Given the description of an element on the screen output the (x, y) to click on. 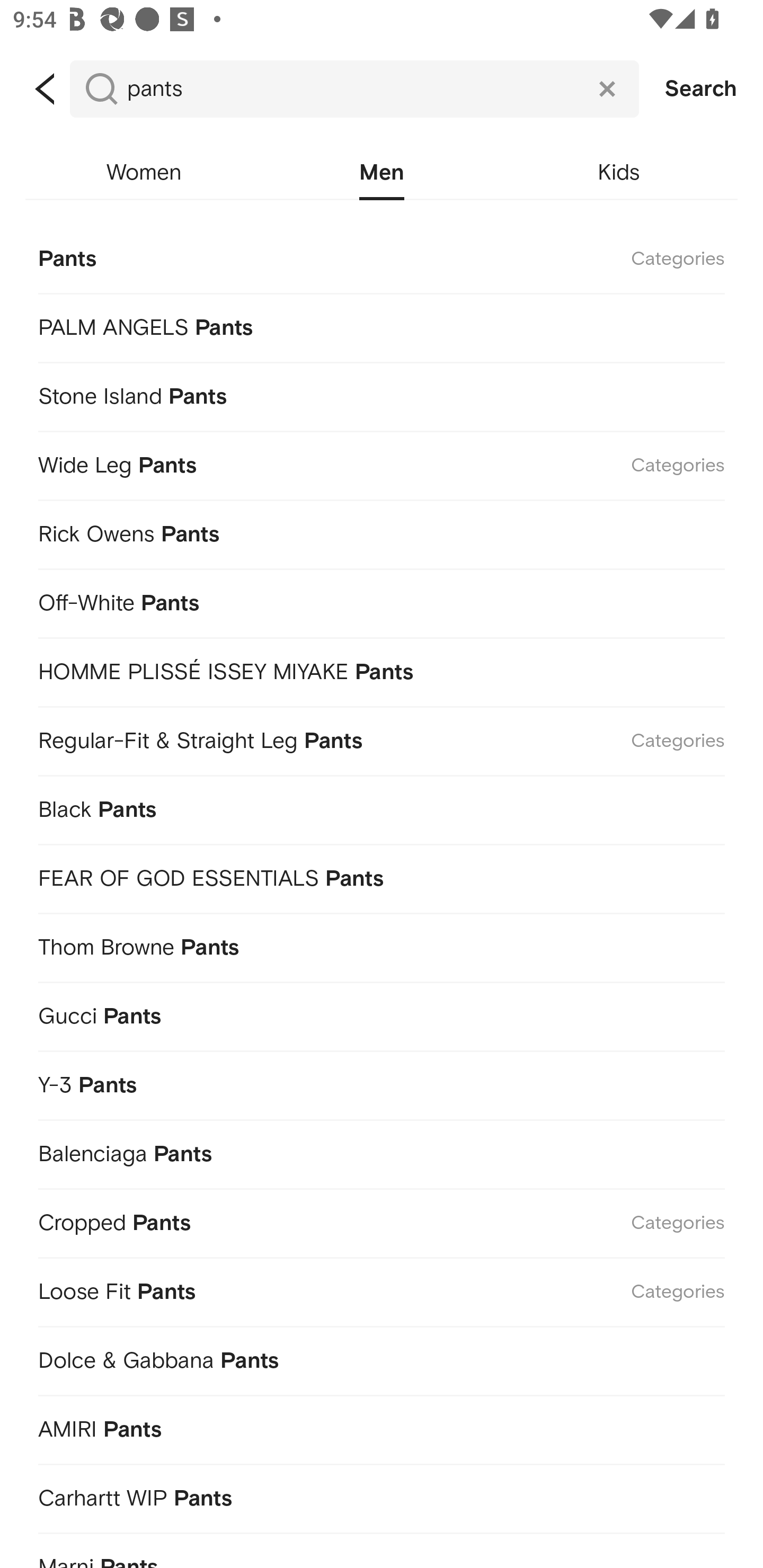
pants (354, 89)
Search (701, 89)
Women (143, 172)
Kids (618, 172)
Pants Categories (381, 257)
PALM ANGELS Pants (381, 324)
Stone Island Pants (381, 393)
Wide Leg Pants Categories (381, 462)
Rick Owens Pants (381, 531)
Off-White Pants (381, 600)
HOMME PLISSÉ ISSEY MIYAKE Pants (381, 669)
Regular-Fit & Straight Leg Pants Categories (381, 738)
Black Pants (381, 806)
FEAR OF GOD ESSENTIALS Pants (381, 874)
Thom Browne Pants (381, 943)
Gucci Pants (381, 1012)
Y-3 Pants (381, 1081)
Balenciaga Pants (381, 1150)
Cropped Pants Categories (381, 1219)
Loose Fit Pants Categories (381, 1288)
Dolce & Gabbana Pants (381, 1357)
AMIRI Pants (381, 1426)
Carhartt WIP Pants (381, 1495)
